Given the description of an element on the screen output the (x, y) to click on. 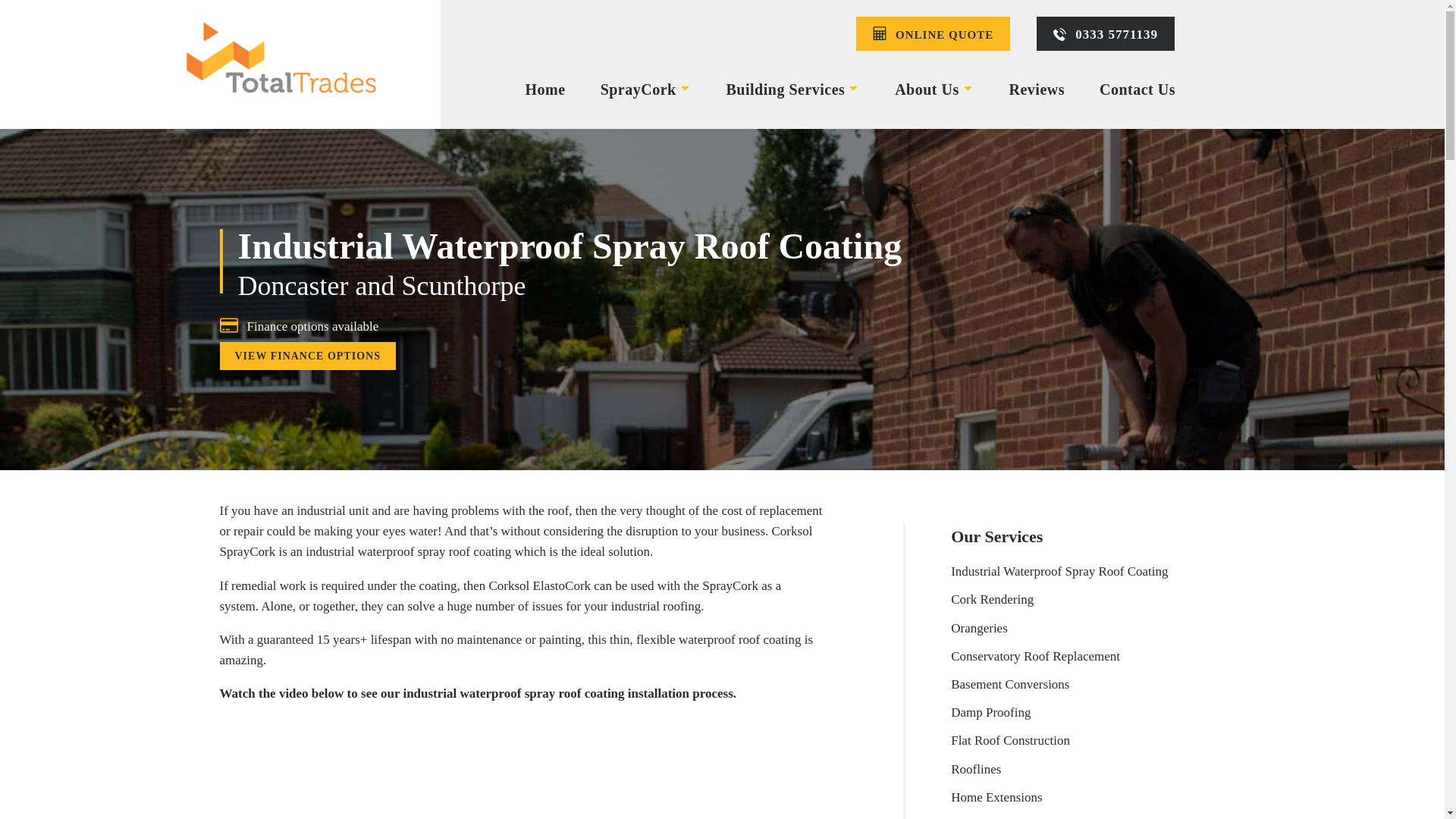
Contact Us (1136, 88)
Cork Rendering (1058, 599)
Home (545, 88)
SprayCork (646, 88)
Conservatory Roof Replacement (1058, 656)
Reviews (1036, 88)
0333 5771139 (1105, 33)
Building Services (792, 88)
ONLINE QUOTE (933, 33)
Industrial Waterproof Spray Roof Coating (1058, 571)
Orangeries (1058, 628)
VIEW FINANCE OPTIONS (307, 355)
About Us (934, 88)
Basement Conversions (1058, 684)
